Given the description of an element on the screen output the (x, y) to click on. 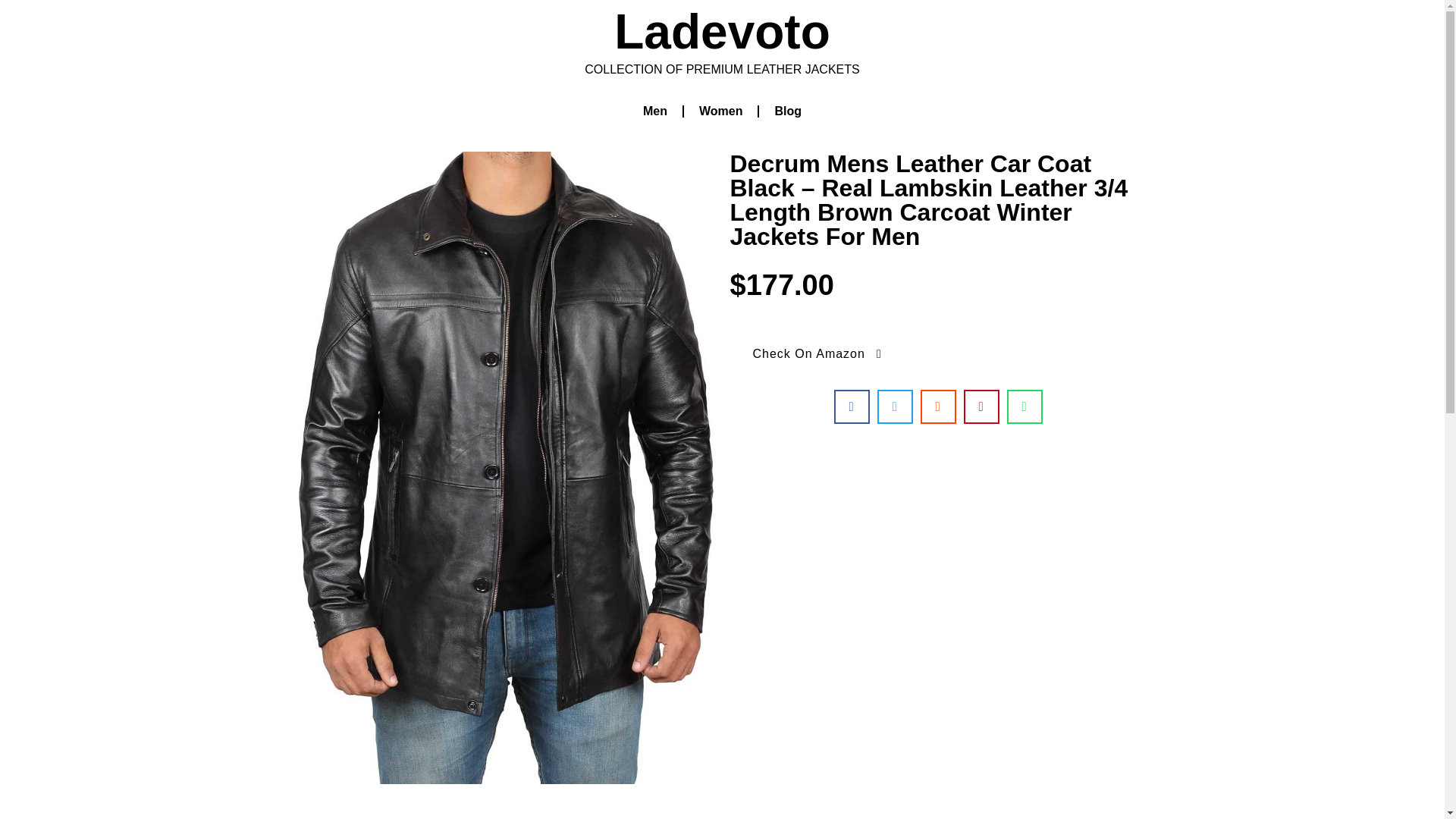
Women (720, 111)
Check On Amazon (818, 353)
Blog (787, 111)
Men (654, 111)
Ladevoto (721, 31)
